Given the description of an element on the screen output the (x, y) to click on. 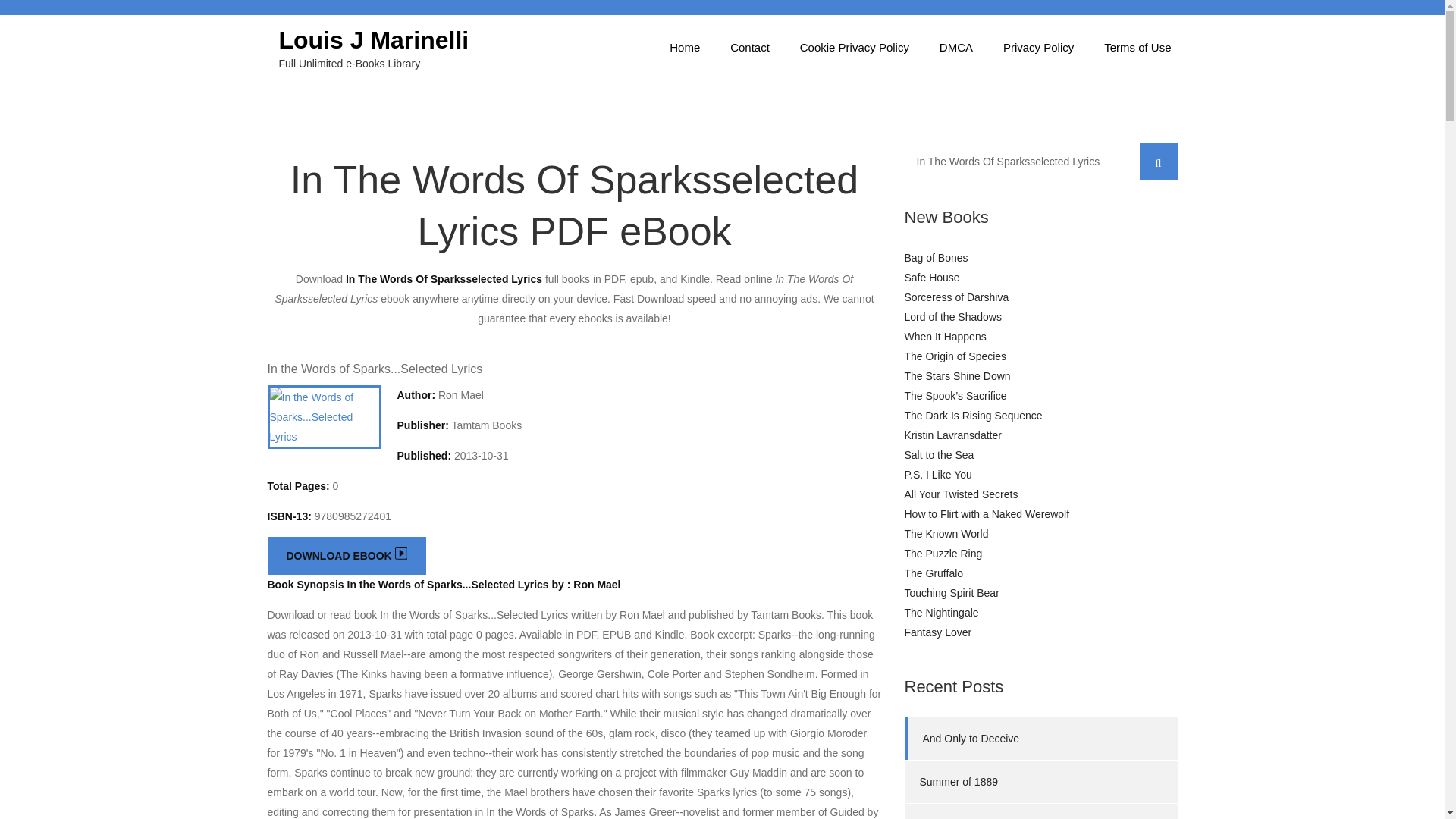
In The Words Of Sparksselected Lyrics (1040, 161)
Search (1157, 161)
Louis J Marinelli (373, 40)
Terms of Use (1137, 47)
Cookie Privacy Policy (854, 47)
DMCA (956, 47)
In The Words Of Sparksselected Lyrics (1040, 161)
Contact (749, 47)
Home (684, 47)
Privacy Policy (1038, 47)
In the Words of Sparks...Selected Lyrics (373, 368)
Search for: (1040, 161)
DOWNLOAD EBOOK (346, 555)
